Given the description of an element on the screen output the (x, y) to click on. 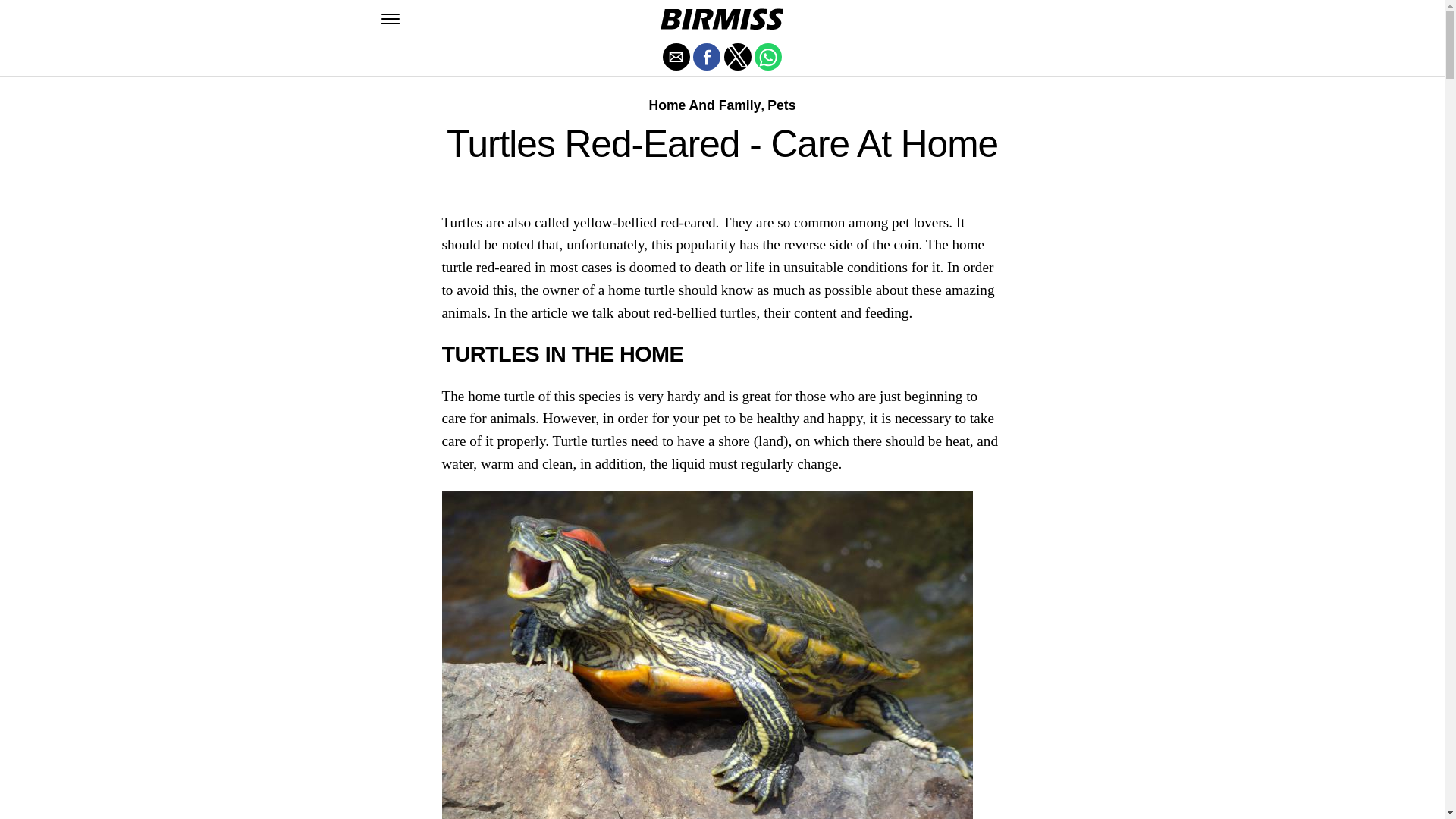
Home And Family (703, 105)
Pets (780, 105)
